Given the description of an element on the screen output the (x, y) to click on. 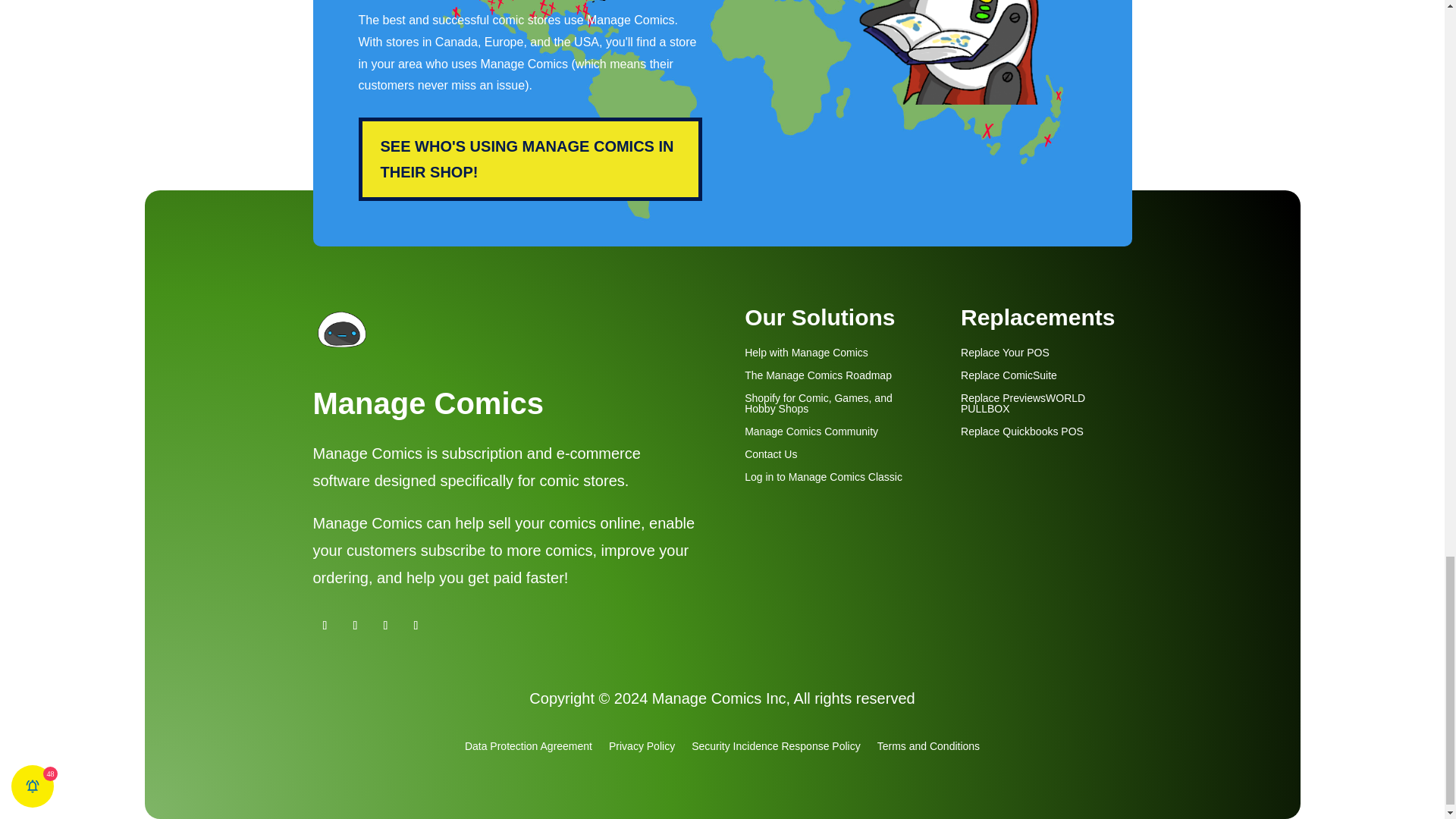
Follow on Instagram (384, 625)
Follow on Facebook (354, 625)
Follow on X (415, 625)
roboto-footer (965, 52)
Manage Comics Icon (342, 331)
Follow on Youtube (324, 625)
